Given the description of an element on the screen output the (x, y) to click on. 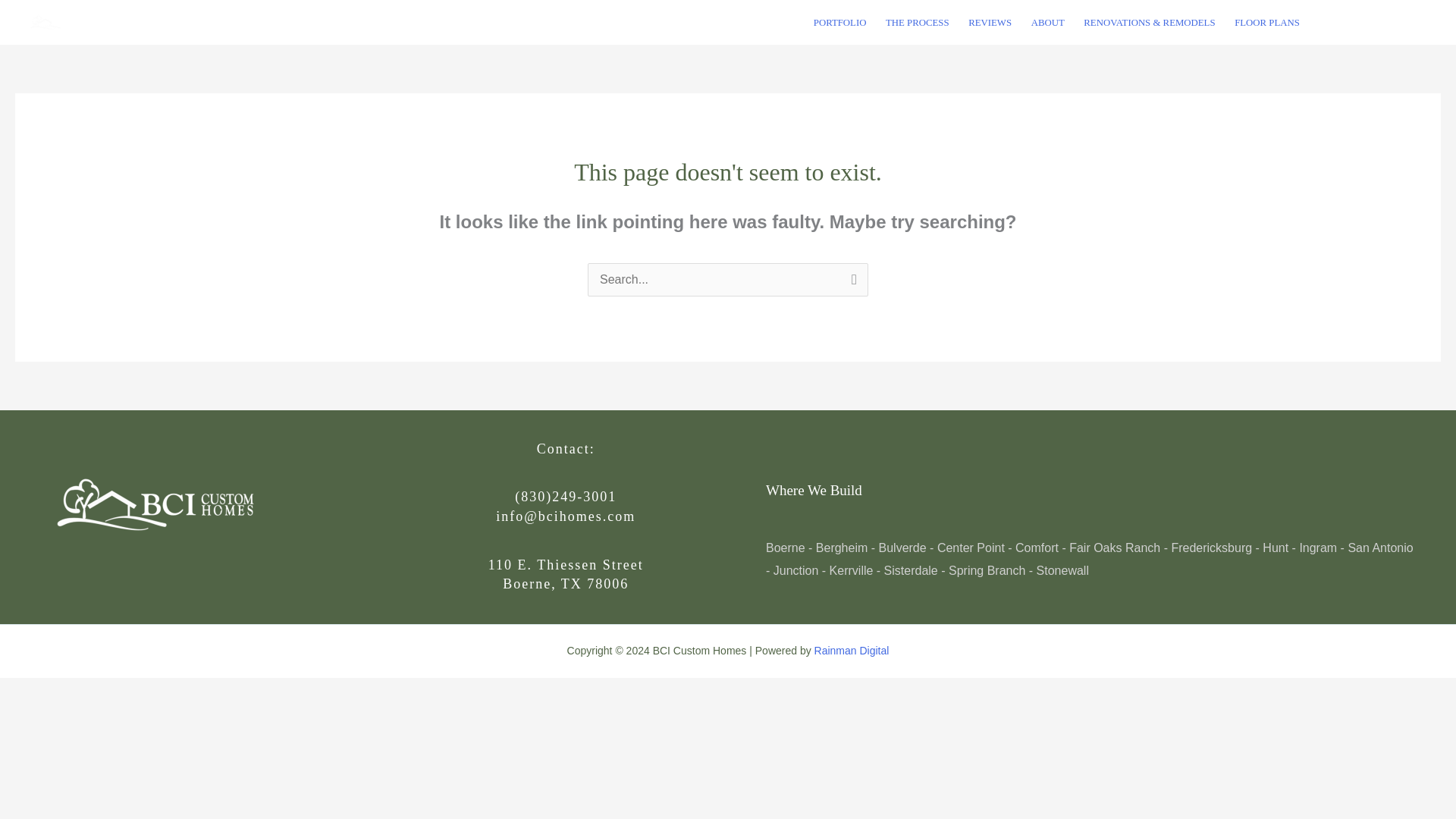
THE PROCESS (917, 22)
ABOUT (1048, 22)
Stonewall (1062, 570)
Junction (795, 570)
Spring Branch (987, 570)
Search (850, 280)
PORTFOLIO (839, 22)
Center Point (970, 547)
Ingram (1317, 547)
REVIEWS (989, 22)
